Given the description of an element on the screen output the (x, y) to click on. 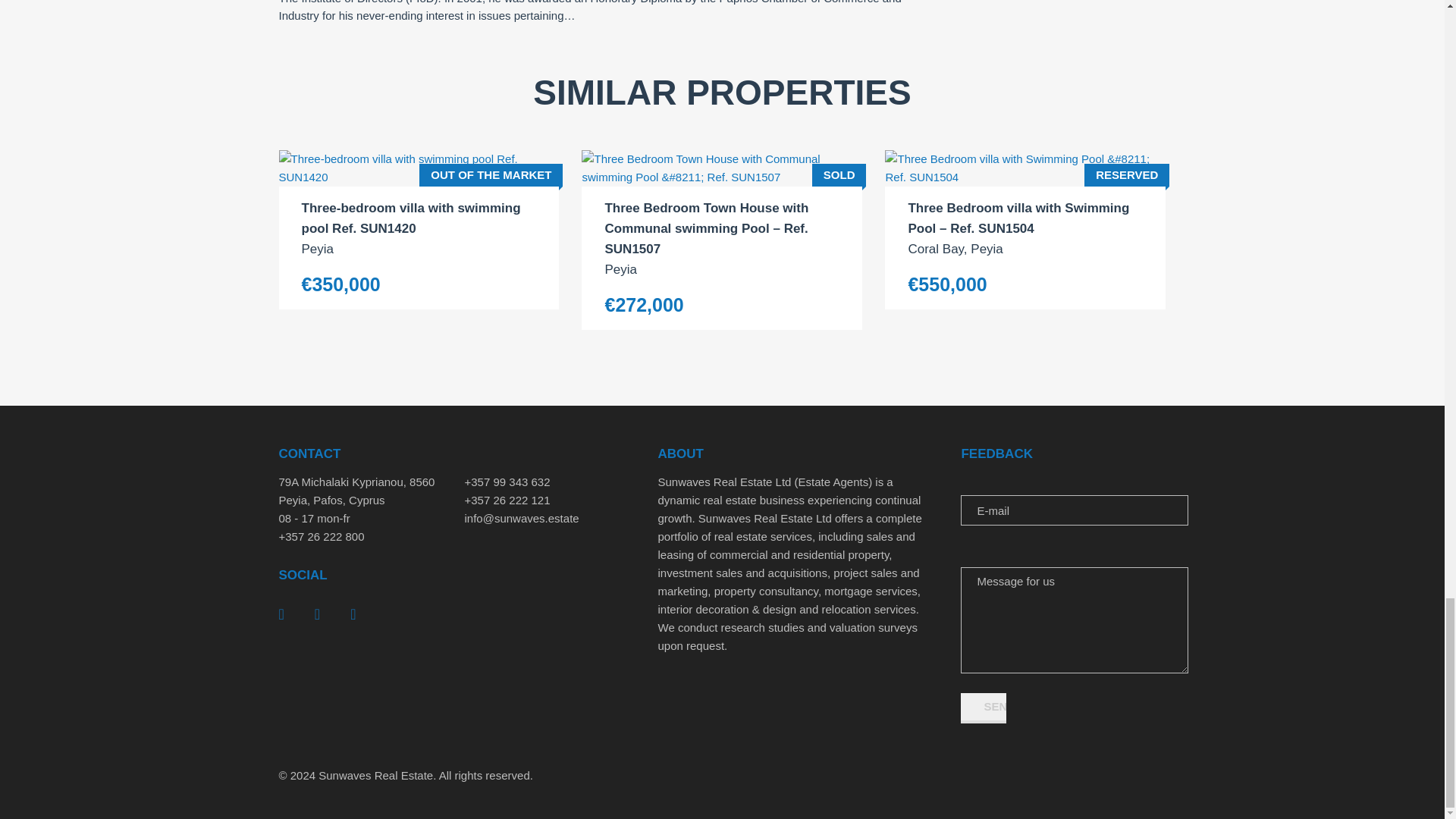
Send (983, 707)
